Given the description of an element on the screen output the (x, y) to click on. 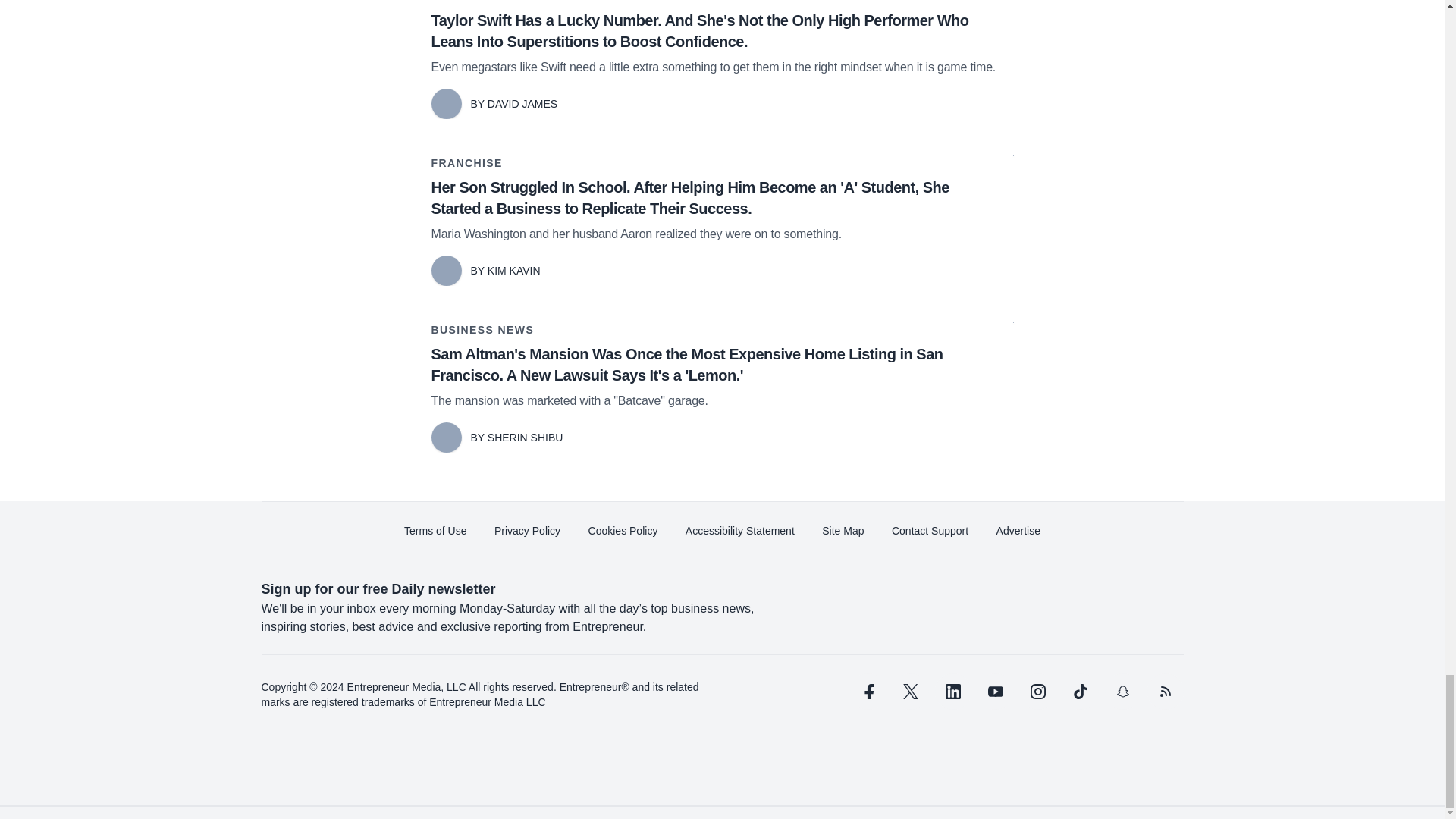
snapchat (1121, 691)
linkedin (952, 691)
facebook (866, 691)
youtube (994, 691)
instagram (1037, 691)
twitter (909, 691)
tiktok (1079, 691)
